Given the description of an element on the screen output the (x, y) to click on. 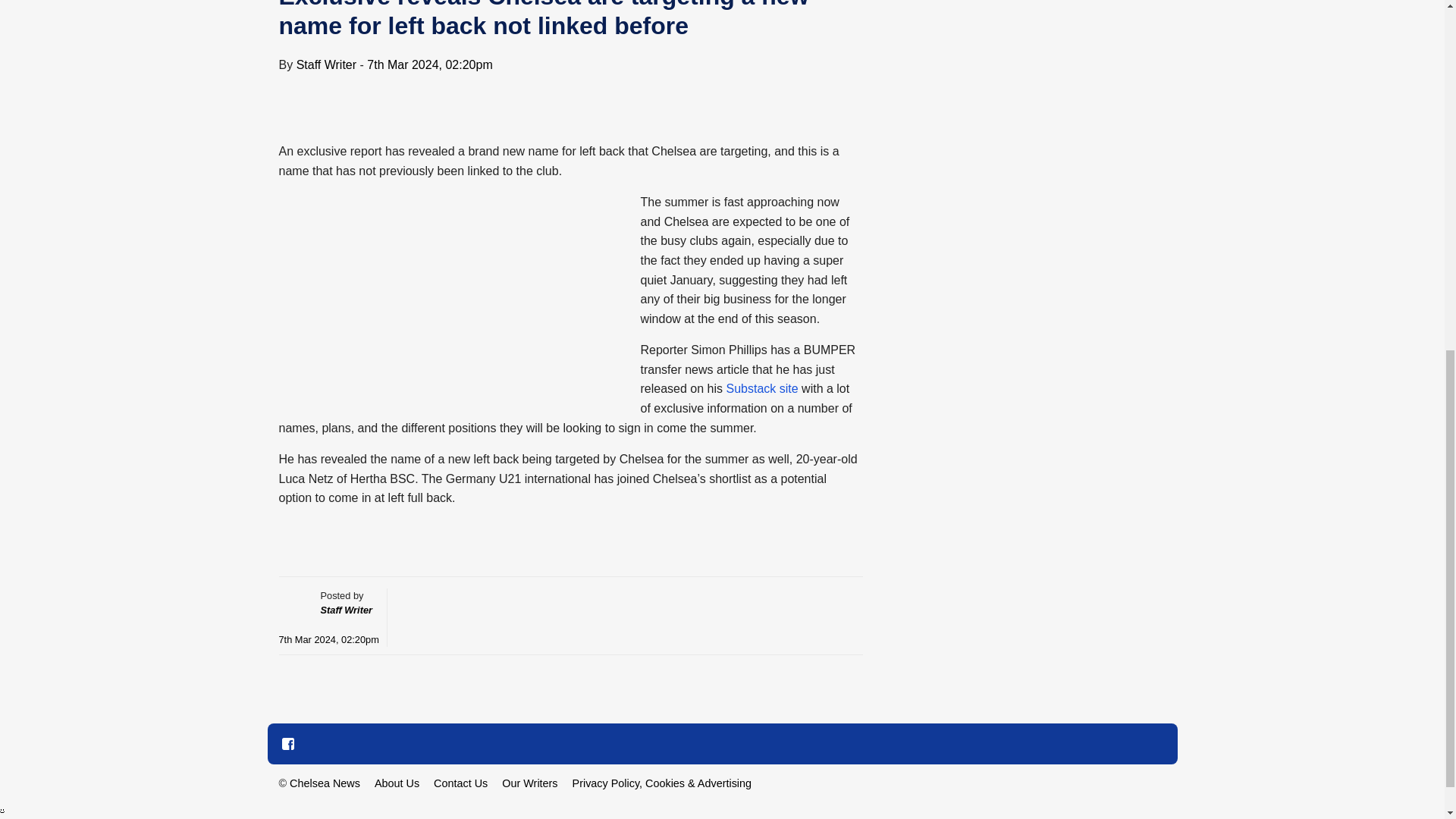
Staff Writer (326, 64)
Substack site (761, 388)
Staff Writer (346, 609)
7th Mar 2024, 02:20pm (429, 64)
7th Mar 2024, 02:20pm (328, 639)
